Given the description of an element on the screen output the (x, y) to click on. 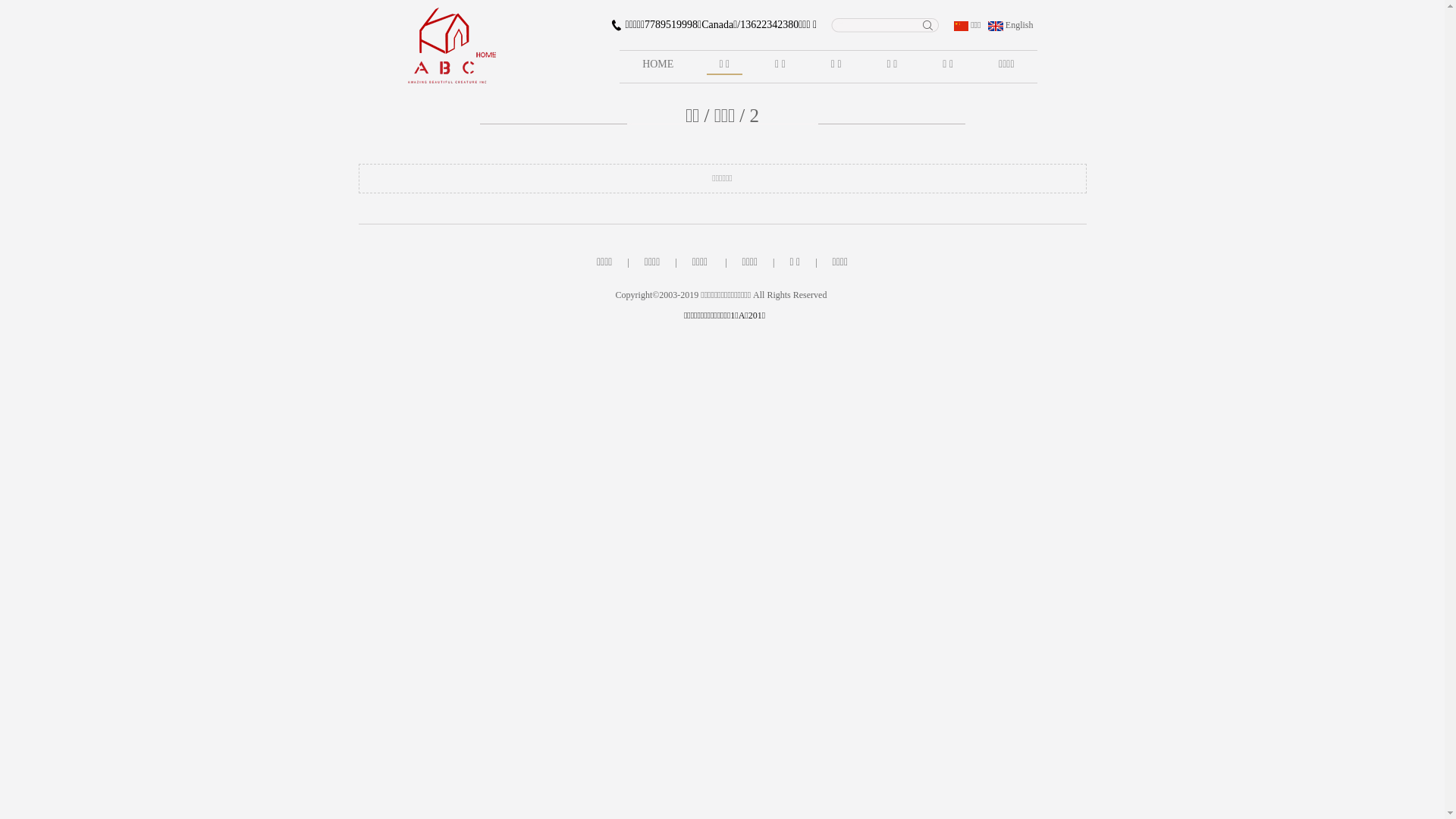
English Element type: text (1010, 24)
2 Element type: text (754, 115)
HOME Element type: text (657, 66)
